Given the description of an element on the screen output the (x, y) to click on. 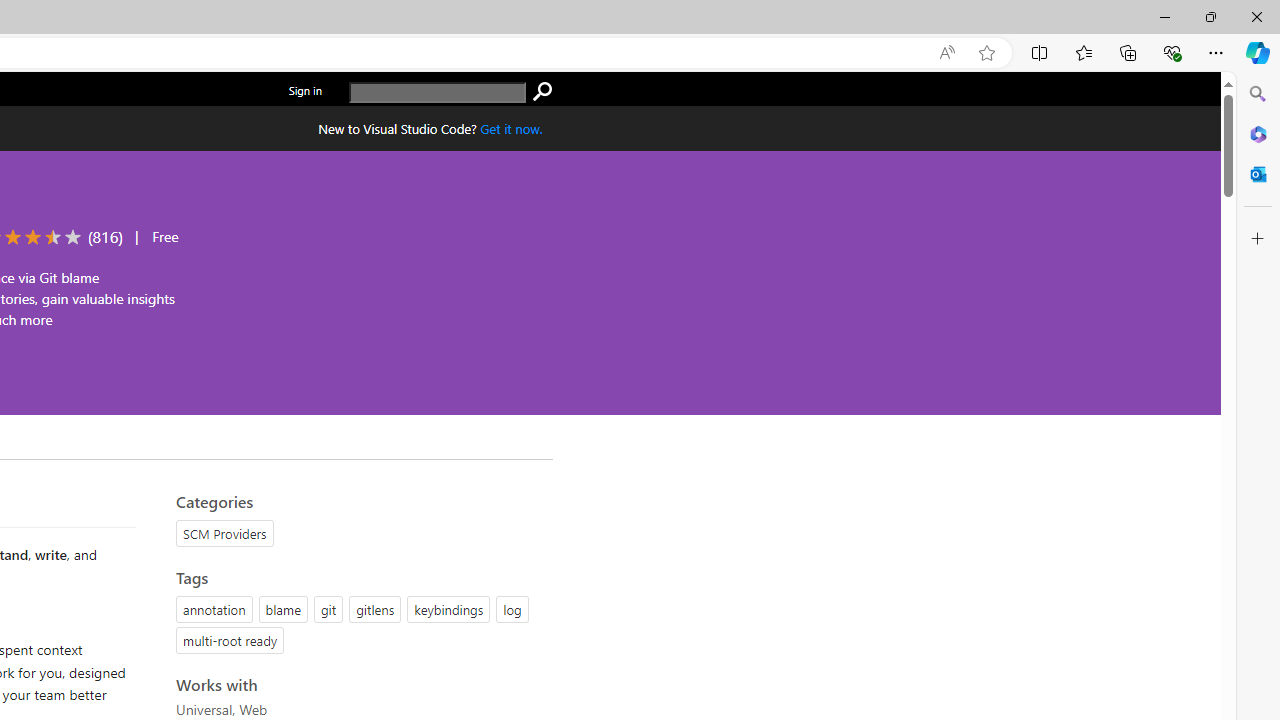
Sign in (305, 89)
search (438, 92)
search (542, 92)
